Given the description of an element on the screen output the (x, y) to click on. 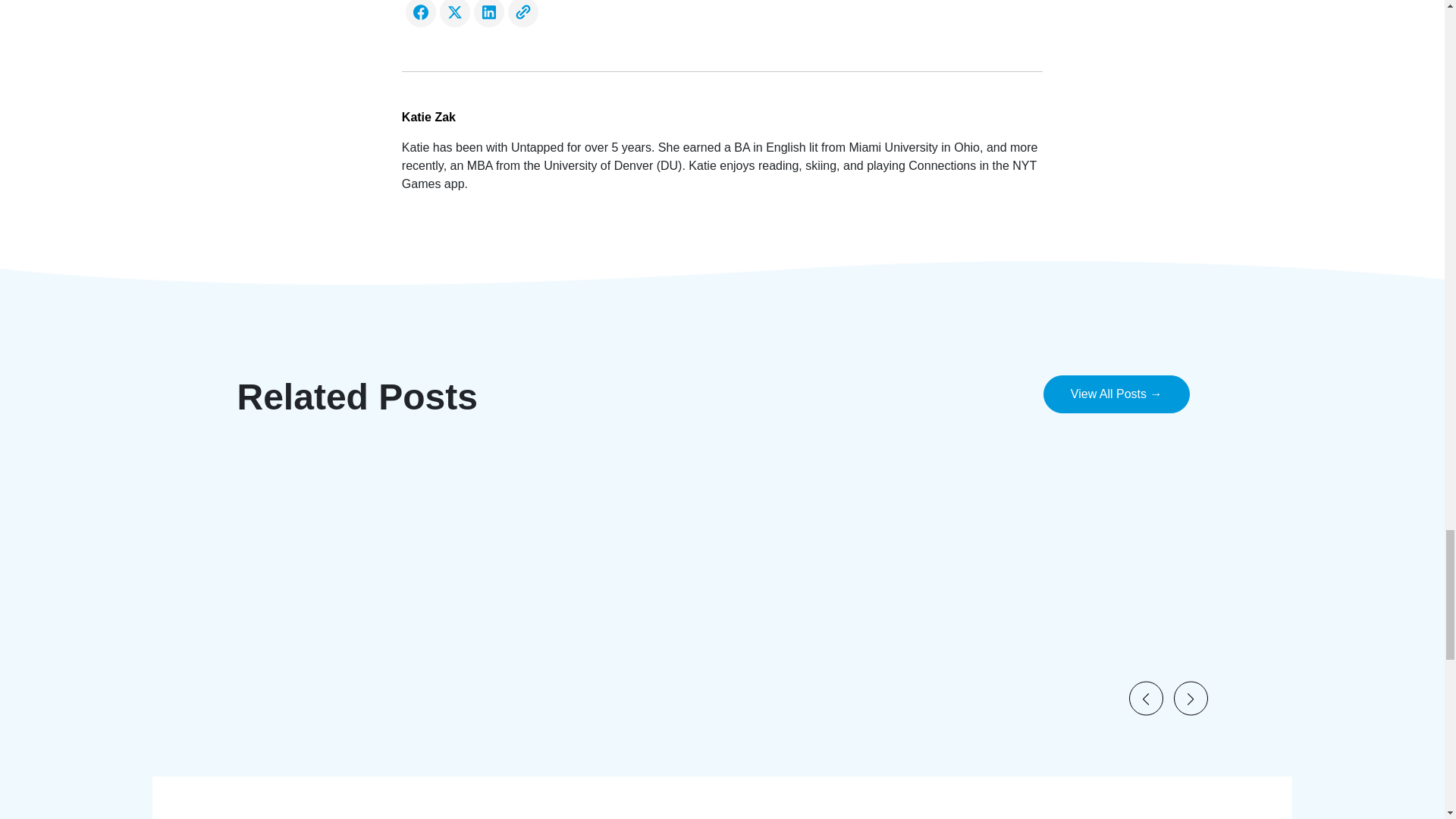
View all posts by Katie Zak (721, 117)
Facebook (419, 13)
LinkedIn (488, 13)
Copy link (521, 13)
